Given the description of an element on the screen output the (x, y) to click on. 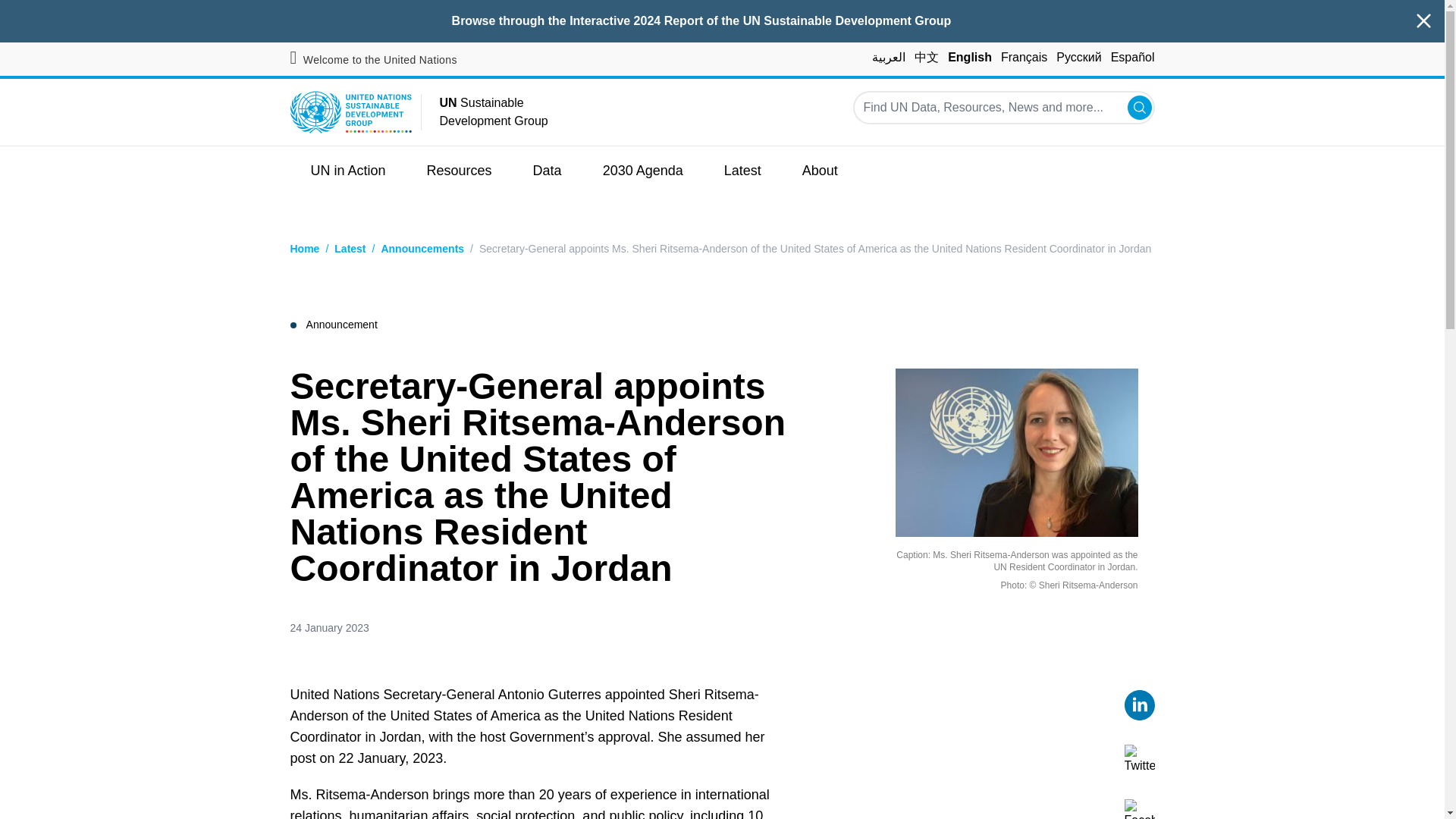
Close alert banner (1423, 21)
Learn about the UNSDG (820, 170)
Submit (1138, 107)
Read the latest news and updates from the field. (742, 170)
English (969, 56)
Resources (459, 170)
UN in Action (347, 170)
Welcome to the United Nations (373, 60)
